Given the description of an element on the screen output the (x, y) to click on. 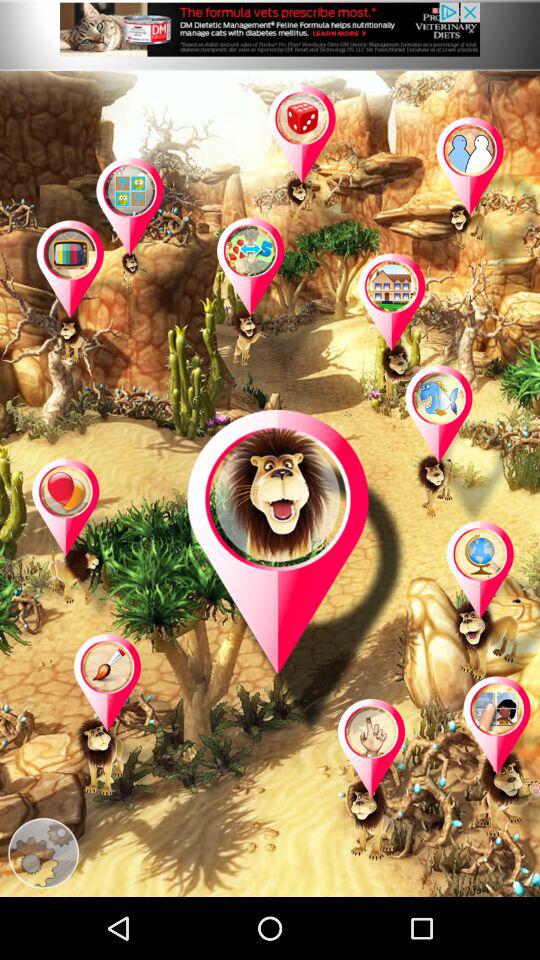
select location (150, 239)
